Given the description of an element on the screen output the (x, y) to click on. 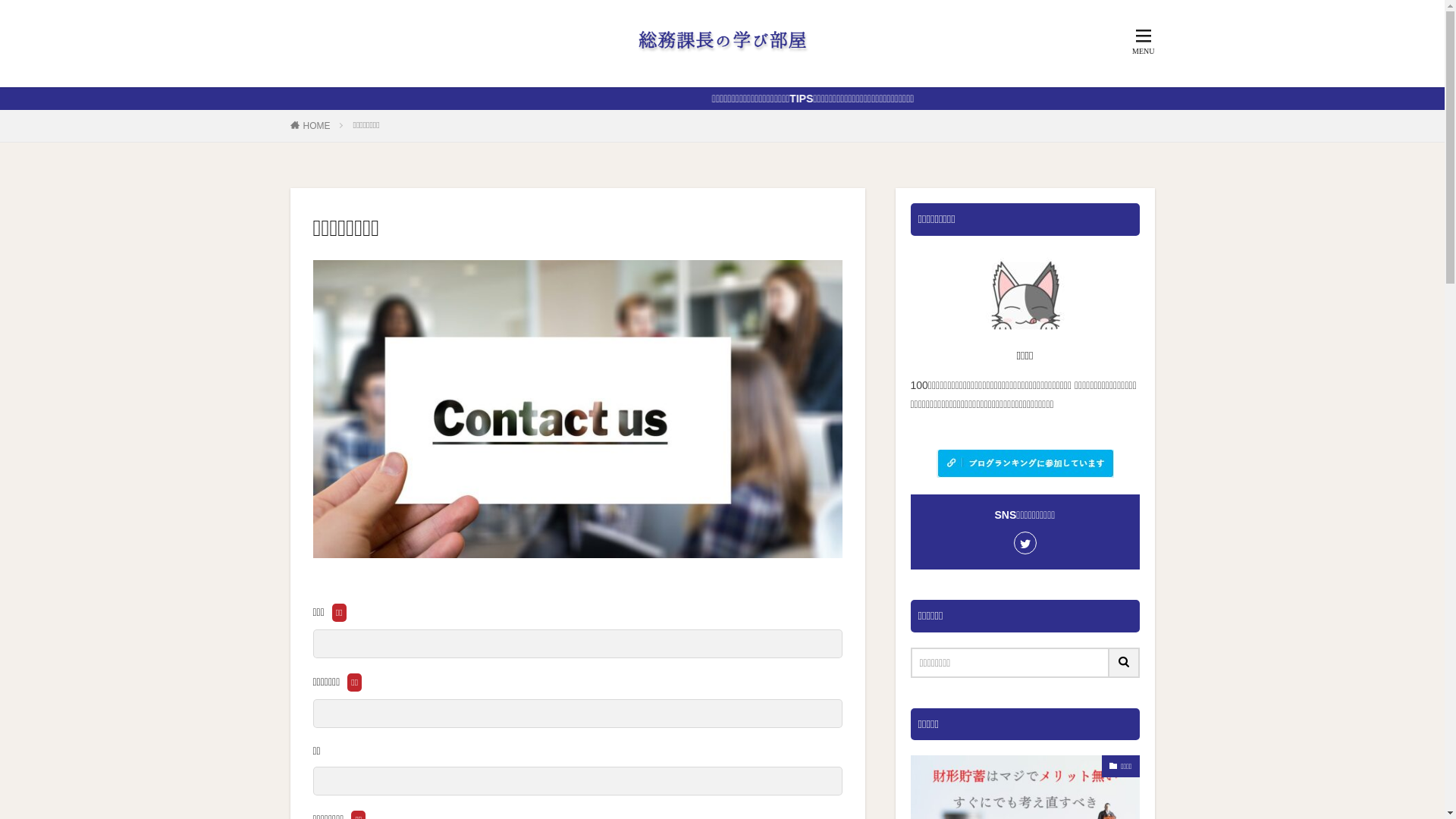
HOME Element type: text (316, 125)
search Element type: text (1123, 662)
